Given the description of an element on the screen output the (x, y) to click on. 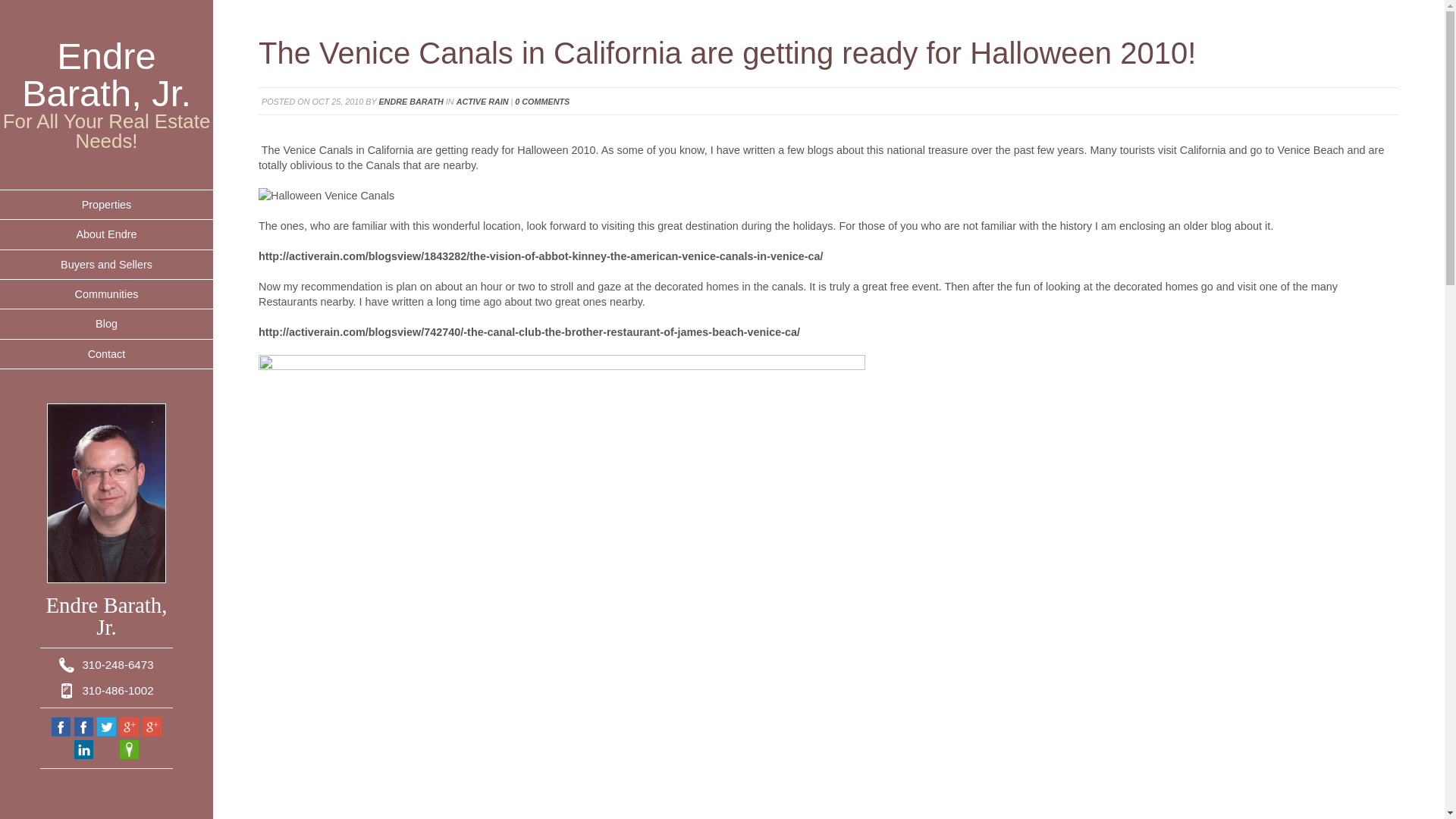
Endre Barath, Jr. (105, 74)
Contact (106, 354)
Properties (106, 205)
Buyers and Sellers (106, 265)
Buyers and Sellers (106, 265)
About Endre (106, 234)
About (106, 234)
Communities (106, 294)
Blog (106, 324)
Properties (106, 205)
